Given the description of an element on the screen output the (x, y) to click on. 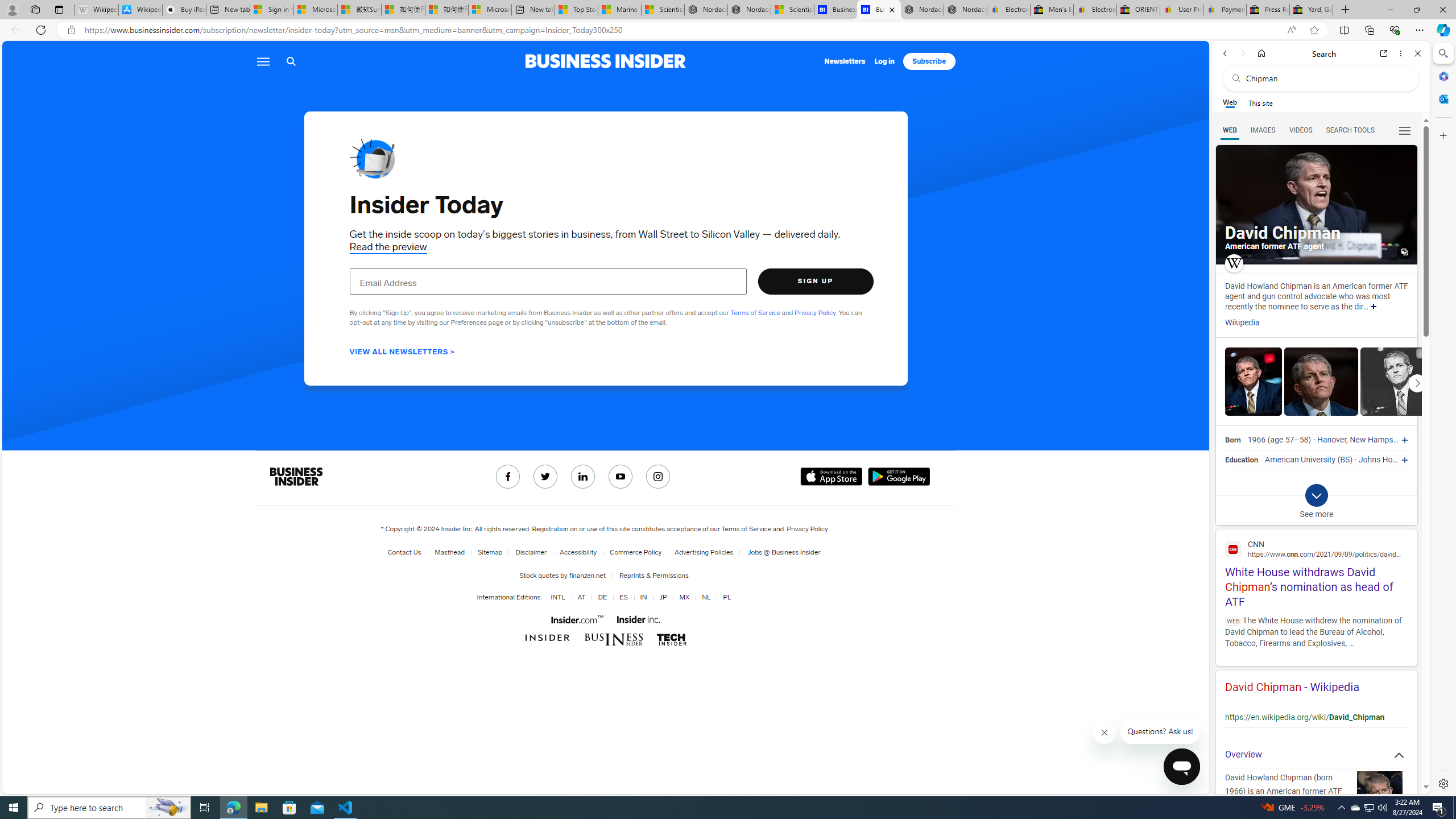
New Hampshire (1377, 439)
Privacy Policy (806, 528)
MX (681, 597)
DE (600, 597)
View details (1396, 382)
Advertising Policies (700, 552)
MX (684, 597)
Accessibility (577, 552)
Masthead (449, 552)
INTL (555, 597)
